Given the description of an element on the screen output the (x, y) to click on. 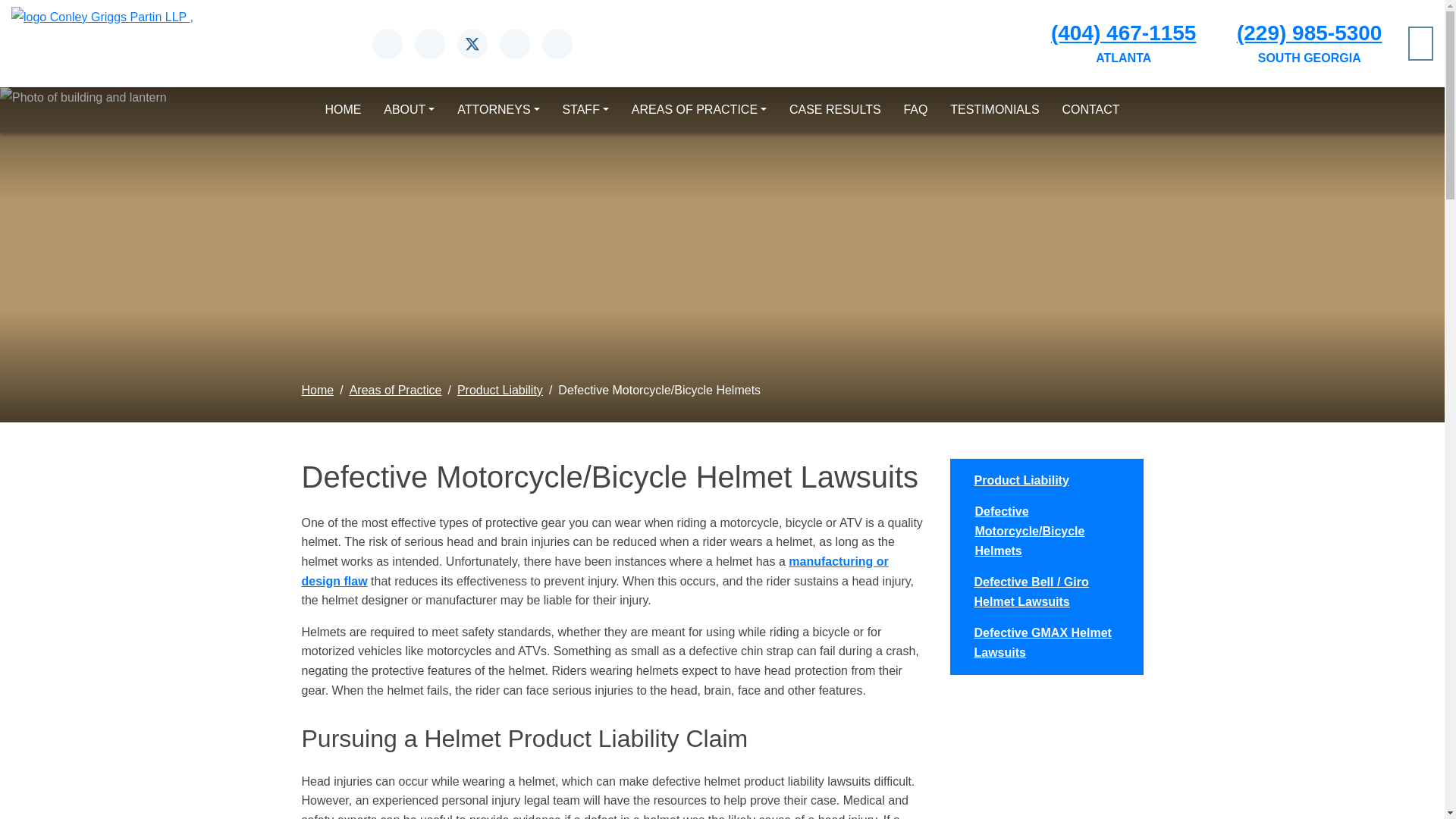
HOME (342, 109)
Atlanta GA Product Liability Lawsuits Lawyer (594, 571)
ATTORNEYS (497, 109)
STAFF (585, 109)
ABOUT (409, 109)
SKIP TO MAIN CONTENT (12, 6)
